Given the description of an element on the screen output the (x, y) to click on. 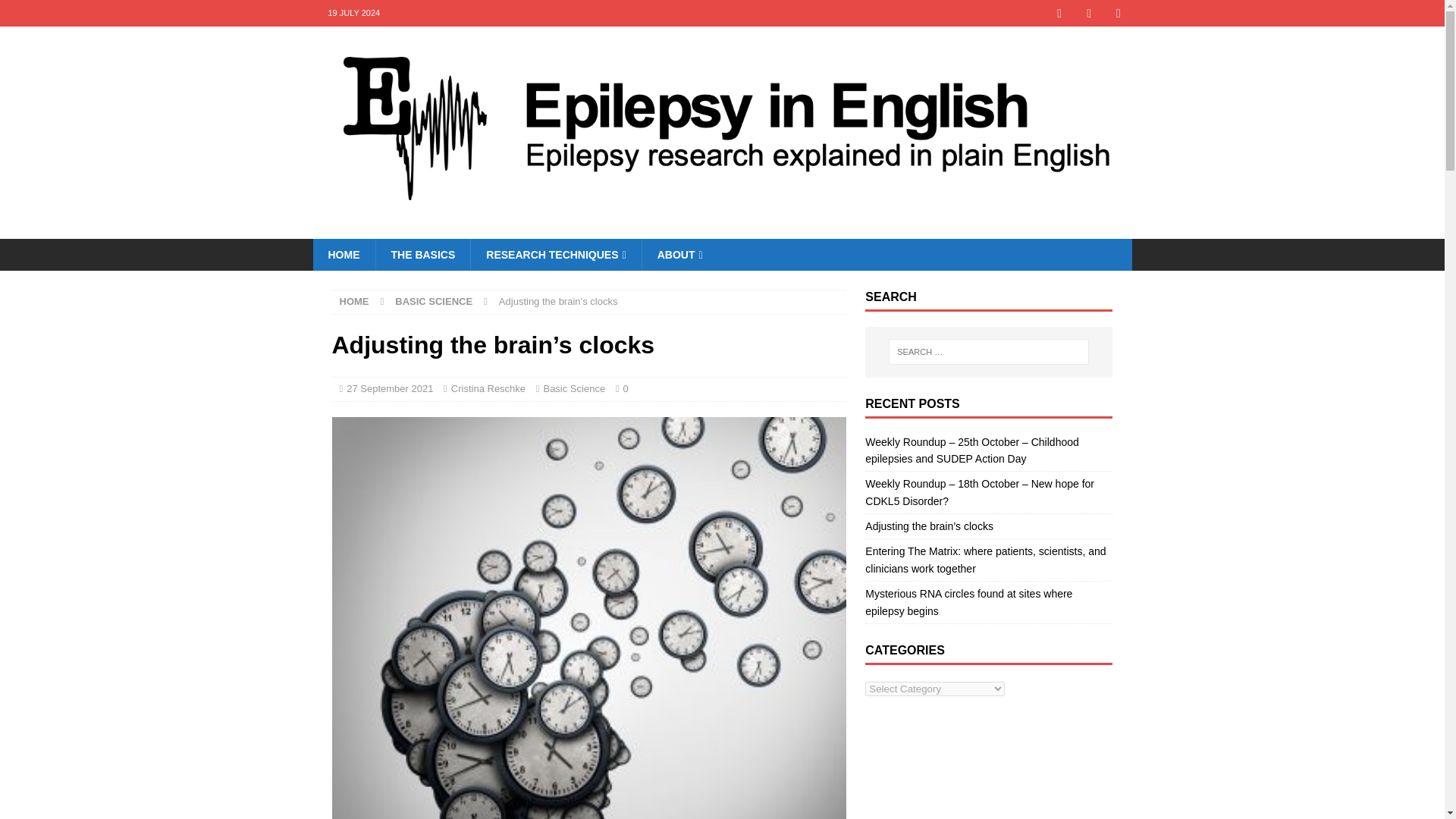
Cristina Reschke (488, 388)
RESEARCH TECHNIQUES (555, 255)
HOME (343, 255)
Basic Science (574, 388)
THE BASICS (422, 255)
HOME (354, 301)
ABOUT (679, 255)
BASIC SCIENCE (432, 301)
27 September 2021 (389, 388)
